Given the description of an element on the screen output the (x, y) to click on. 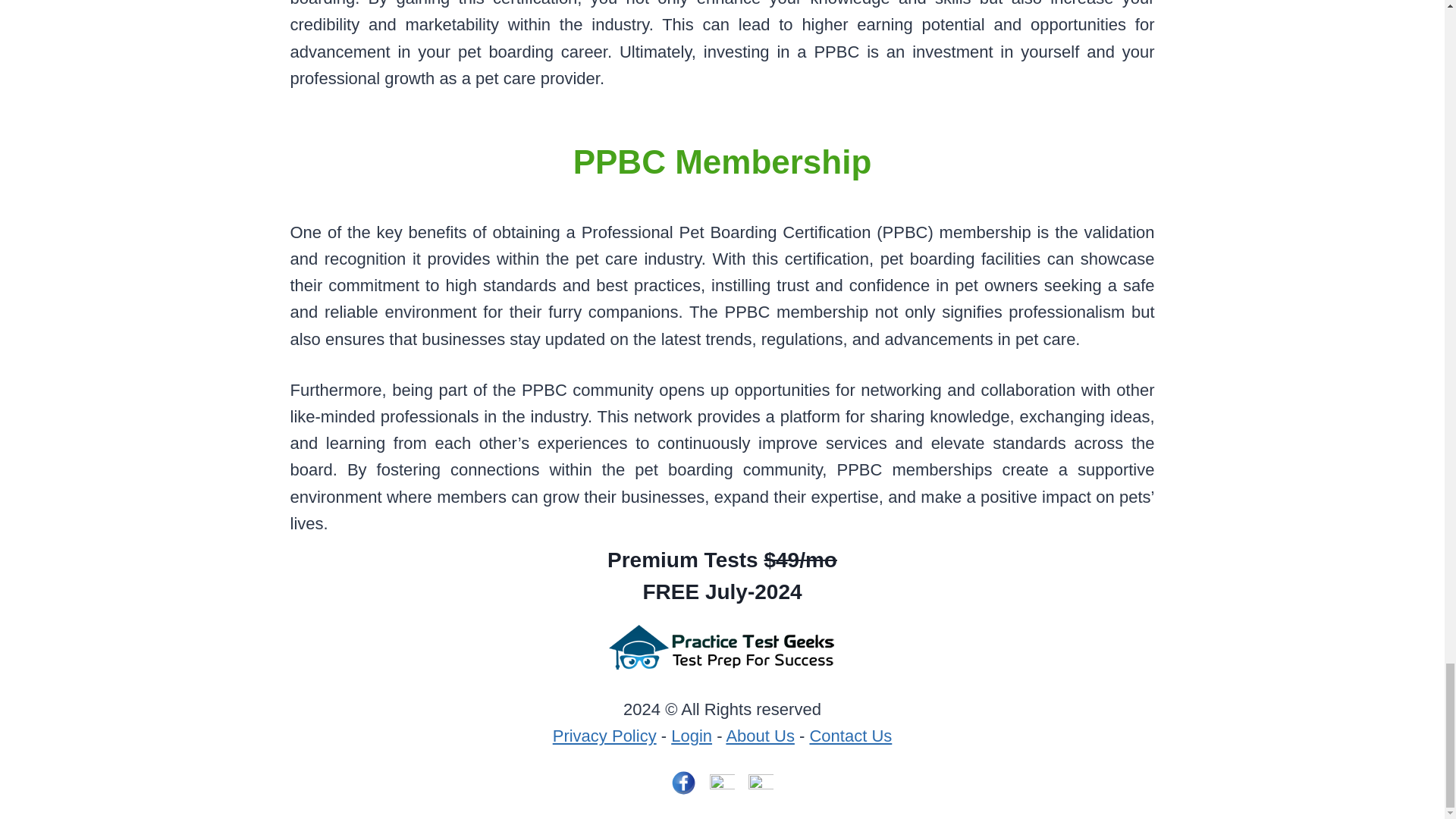
Contact Us (850, 735)
Privacy Policy (604, 735)
About Us (759, 735)
Login (691, 735)
